Given the description of an element on the screen output the (x, y) to click on. 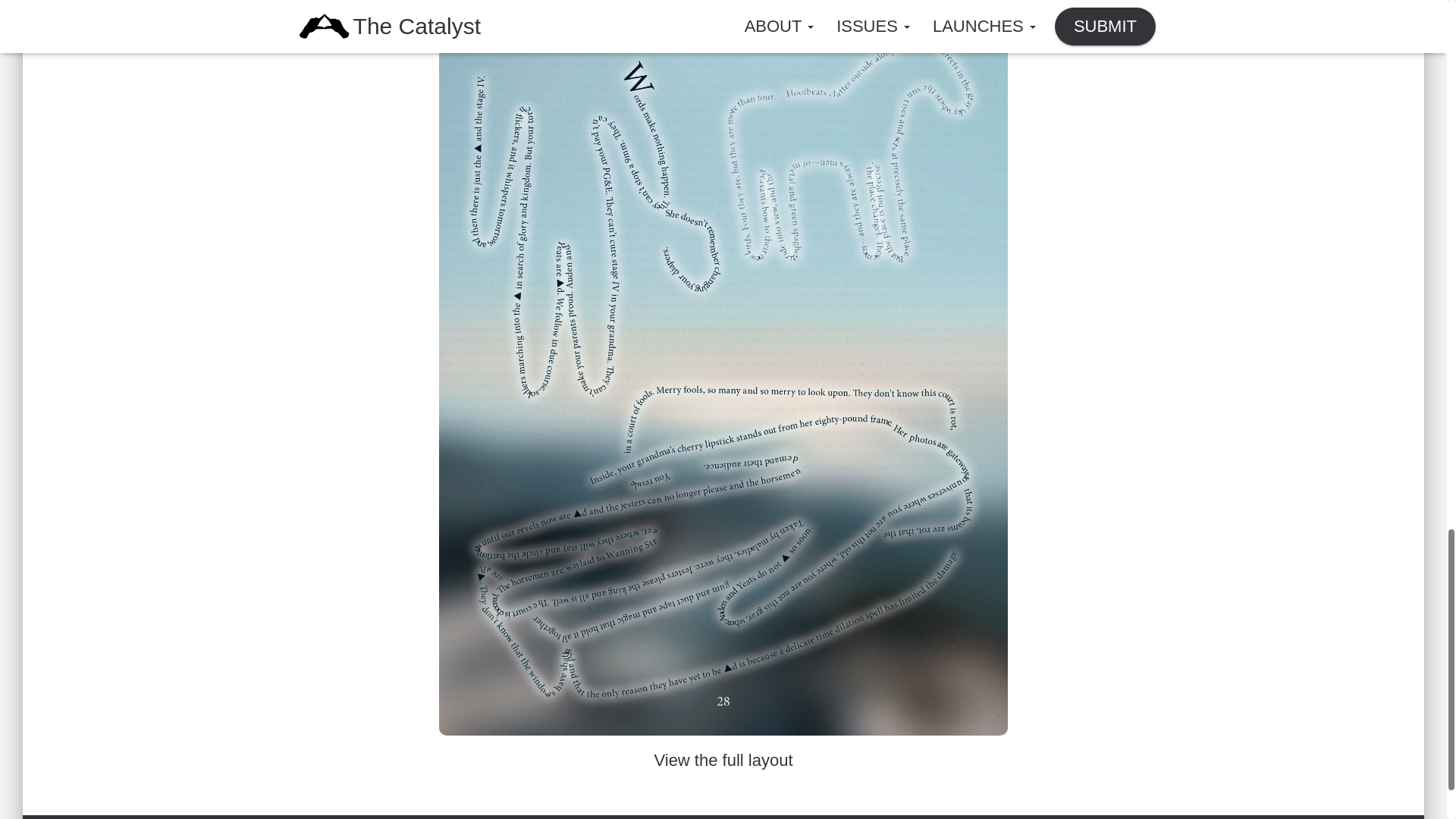
View the full layout (722, 760)
